Given the description of an element on the screen output the (x, y) to click on. 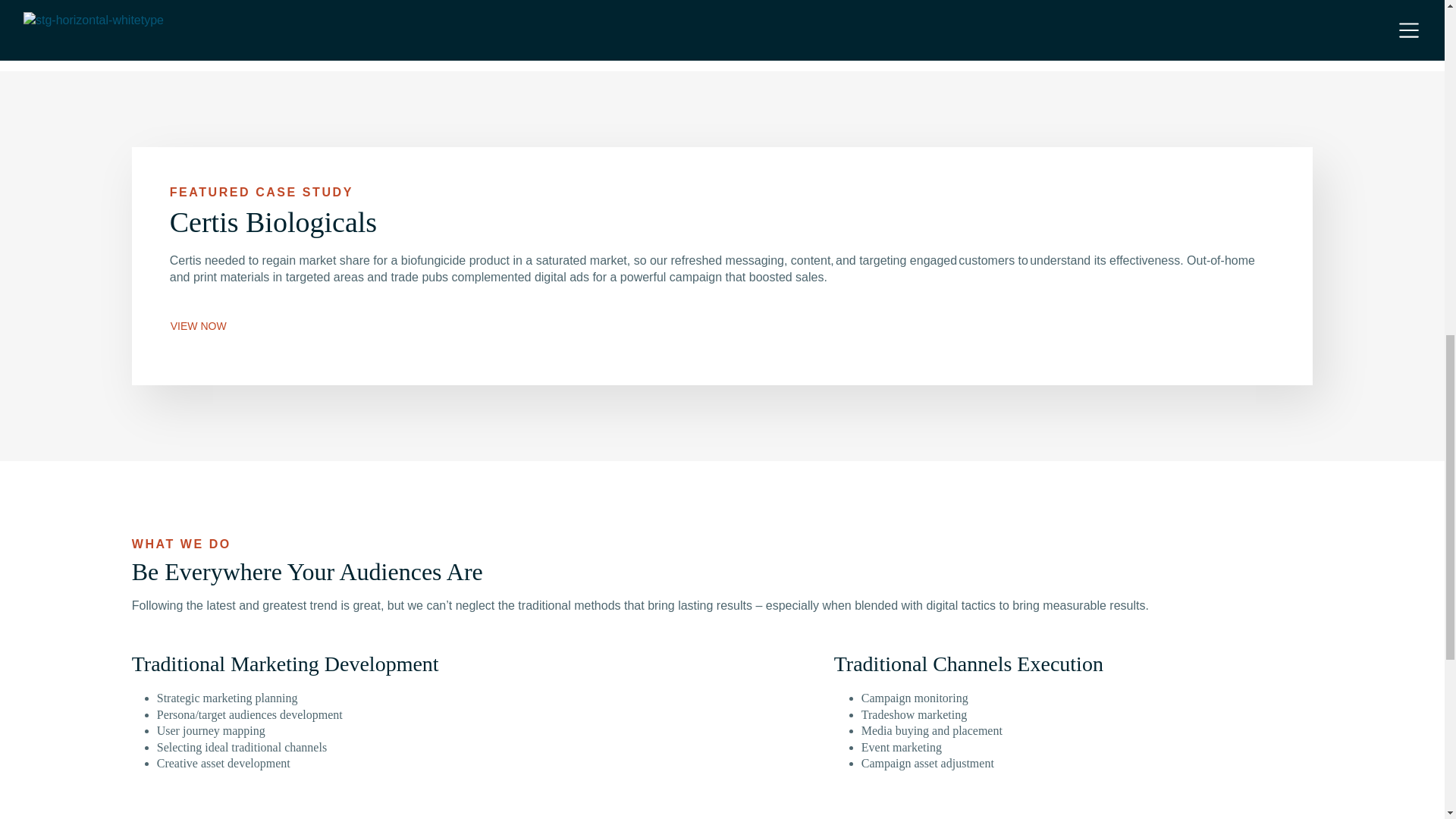
VIEW NOW (198, 325)
